Given the description of an element on the screen output the (x, y) to click on. 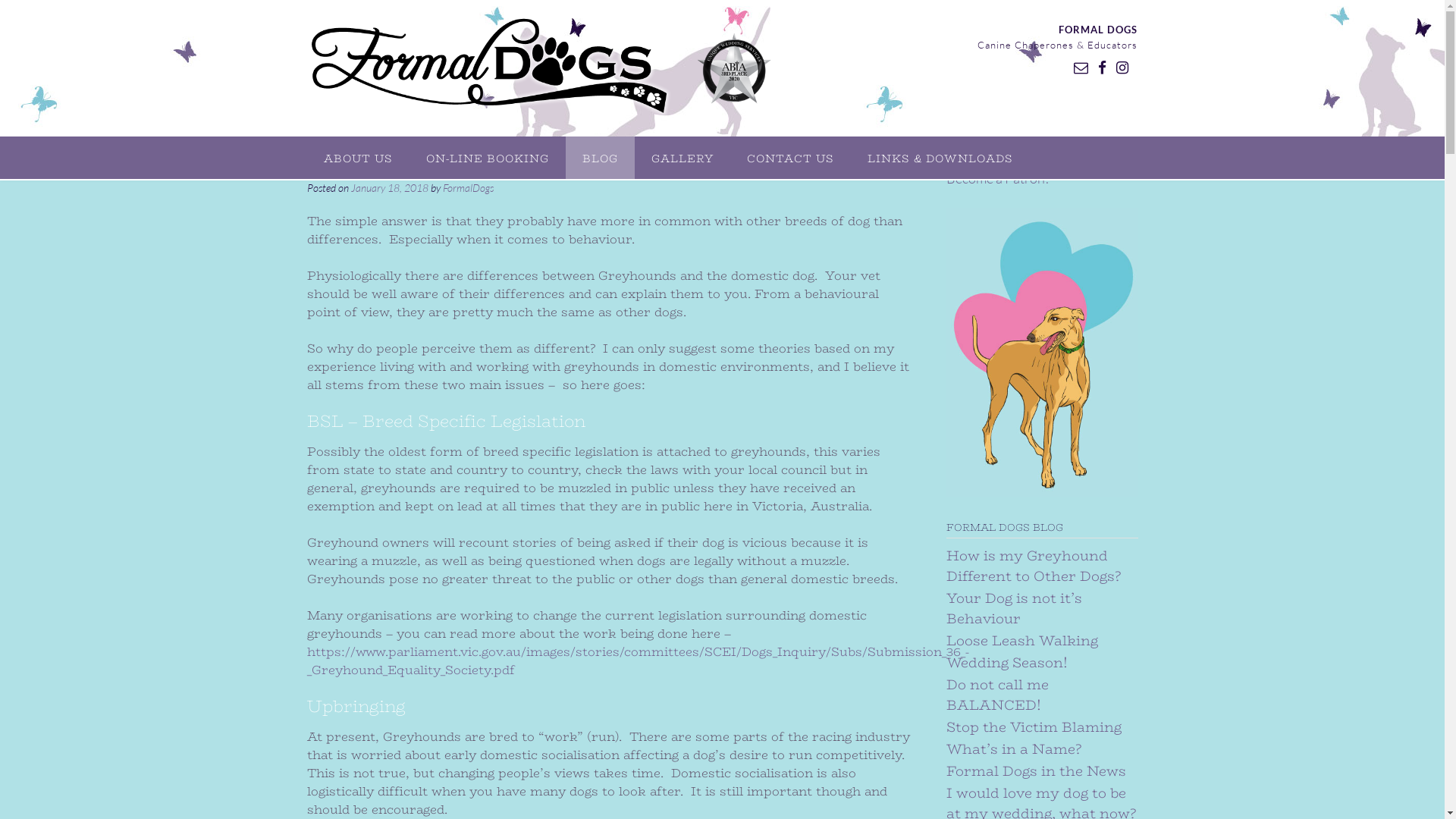
Follow us on Instagram Element type: hover (1122, 67)
How is my Greyhound Different to Other Dogs? Element type: text (1033, 565)
BLOG Element type: text (599, 157)
Stop the Victim Blaming Element type: text (1033, 726)
Formal Dogs Element type: hover (540, 68)
Become a Patron! Element type: text (997, 177)
Send us an email Element type: hover (1080, 67)
CONTACT US Element type: text (789, 157)
LINKS & DOWNLOADS Element type: text (939, 157)
Do not call me BALANCED! Element type: text (997, 694)
FormalDogs Element type: text (467, 186)
January 18, 2018 Element type: text (388, 186)
Find us on Facebook Element type: hover (1102, 67)
Formal Dogs in the News Element type: text (1036, 770)
GALLERY Element type: text (681, 157)
Loose Leash Walking Element type: text (1022, 640)
ABOUT US Element type: text (357, 157)
ON-LINE BOOKING Element type: text (487, 157)
How is my Greyhound Different to Other Dogs? Element type: text (487, 164)
Wedding Season! Element type: text (1006, 662)
